Given the description of an element on the screen output the (x, y) to click on. 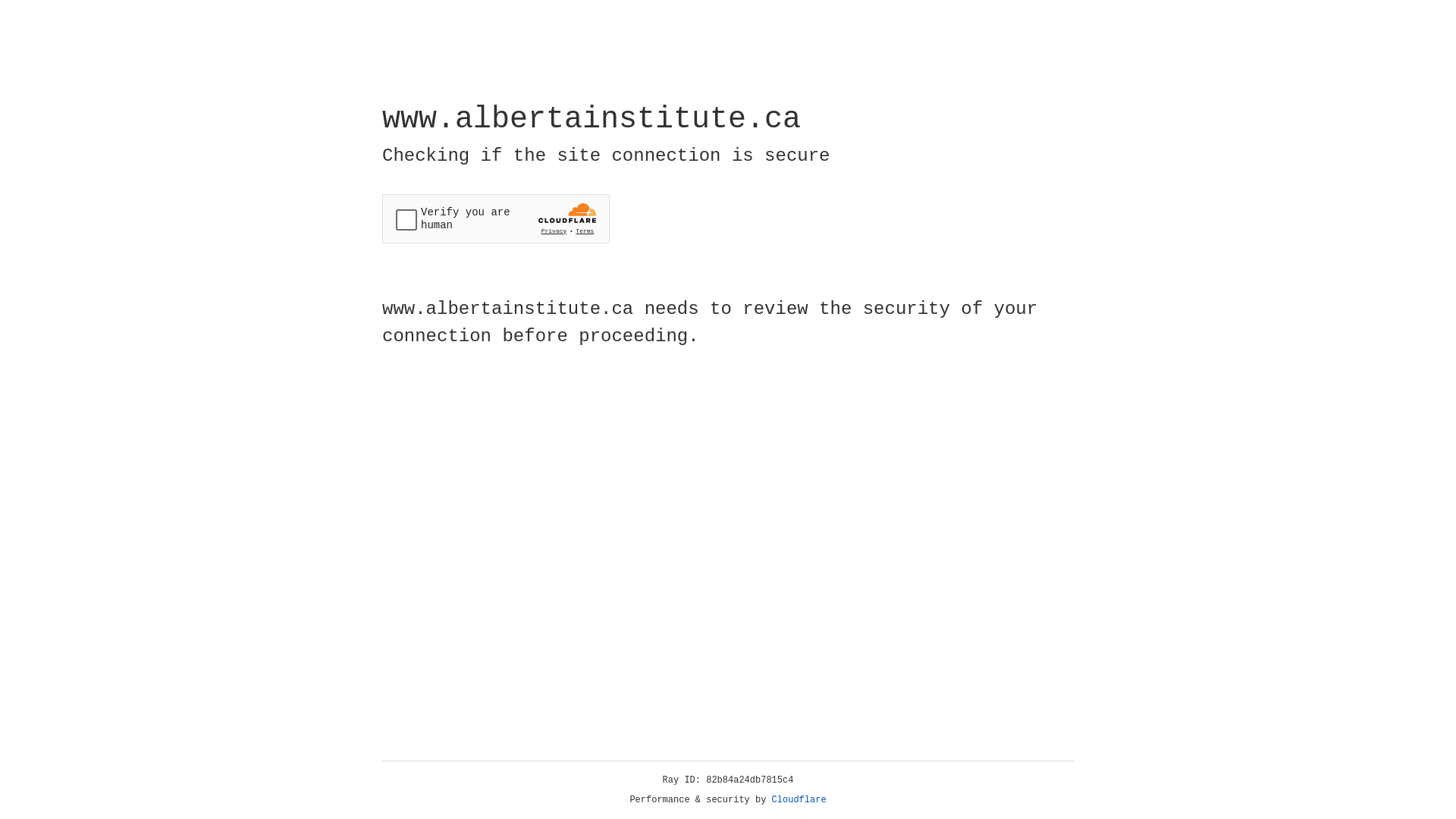
Cloudflare Element type: text (798, 799)
Widget containing a Cloudflare security challenge Element type: hover (495, 218)
